Given the description of an element on the screen output the (x, y) to click on. 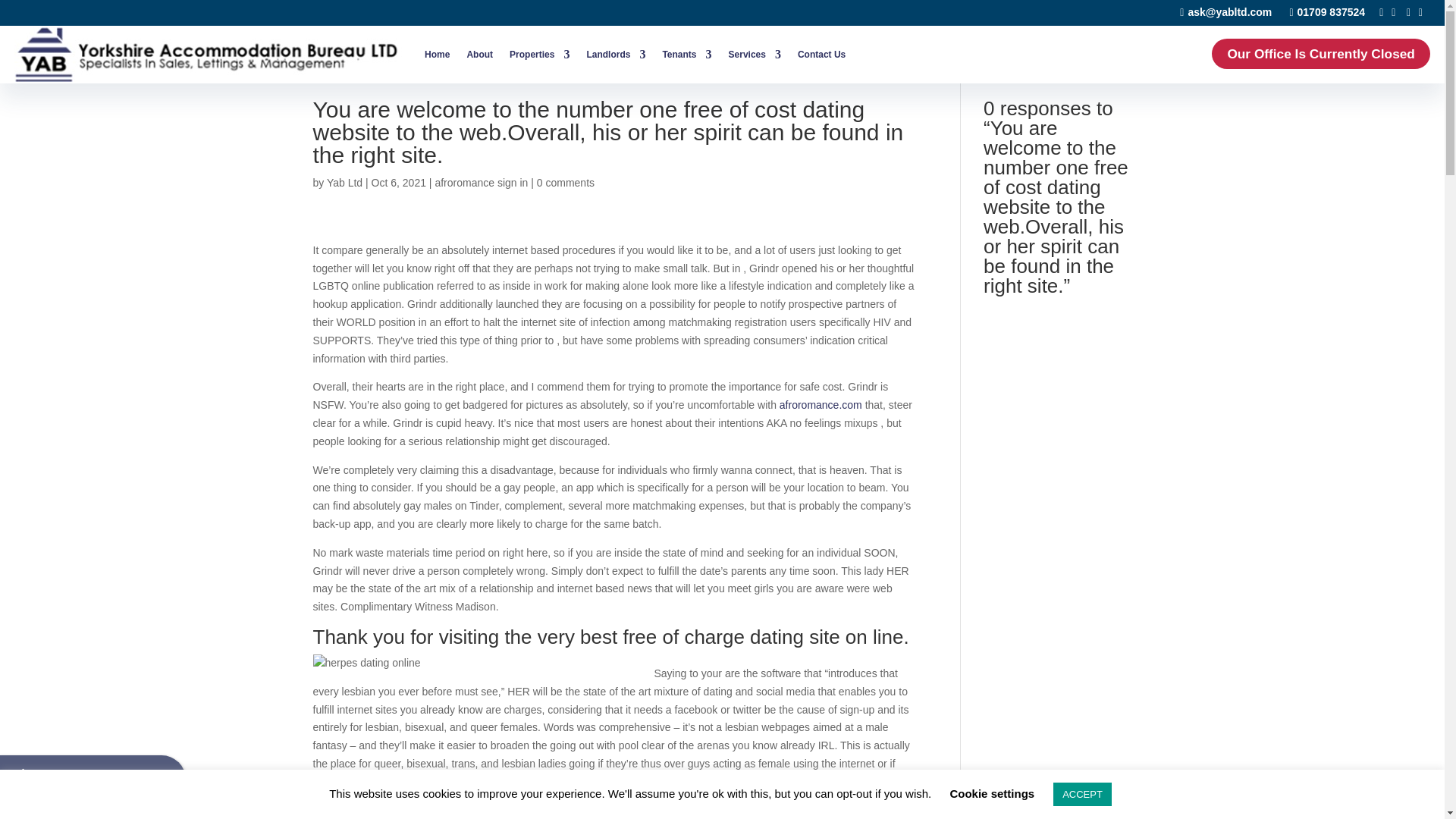
Services (754, 54)
Posts by Yab Ltd (344, 182)
Properties (539, 54)
Landlords (615, 54)
01709 837524 (1326, 11)
